Given the description of an element on the screen output the (x, y) to click on. 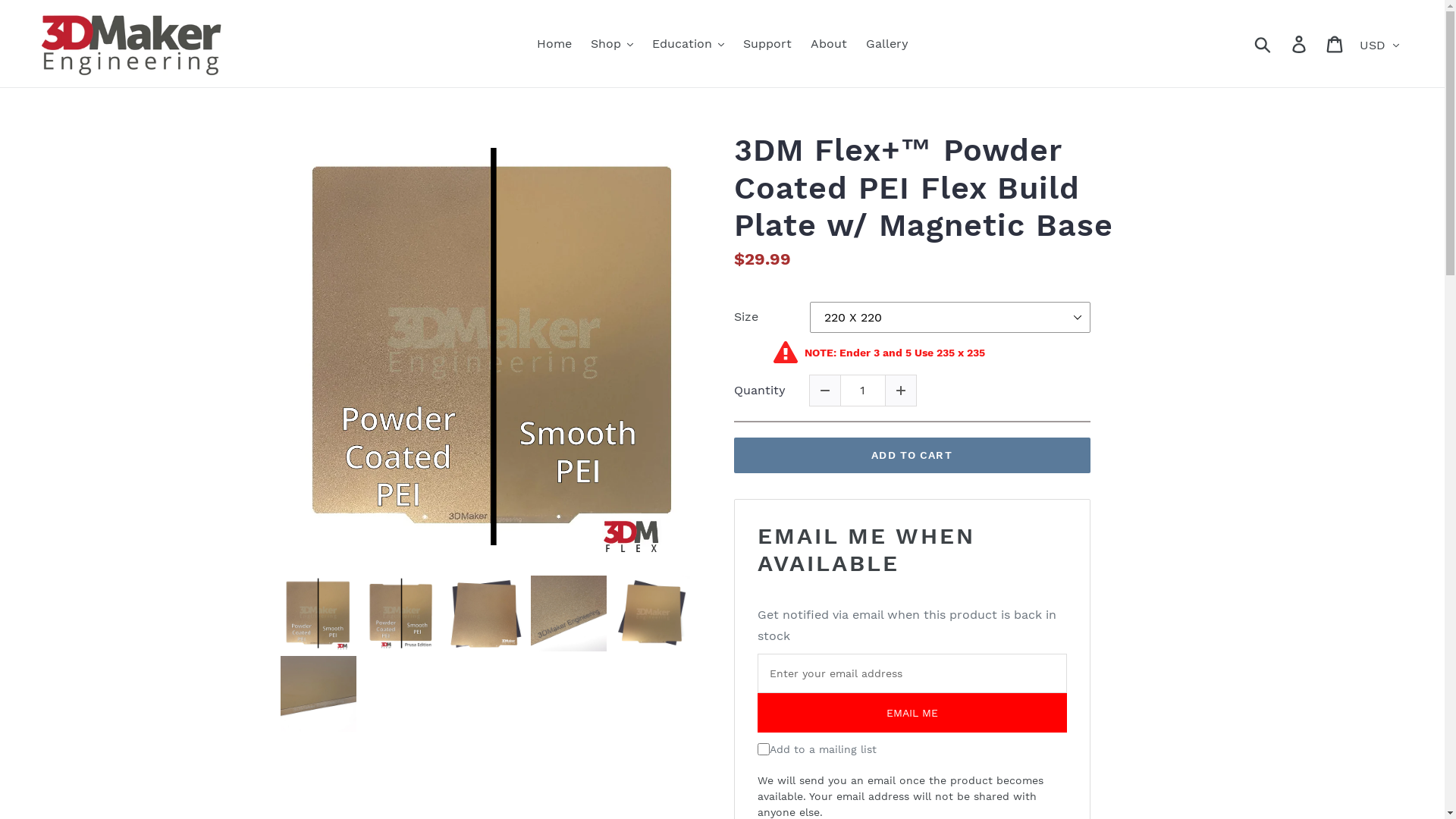
EMAIL ME Element type: text (911, 712)
Support Element type: text (767, 43)
Gallery Element type: text (887, 43)
Home Element type: text (554, 43)
Cart Element type: text (1335, 43)
ADD TO CART Element type: text (912, 455)
Log in Element type: text (1299, 43)
Submit Element type: text (1263, 43)
About Element type: text (827, 43)
